Given the description of an element on the screen output the (x, y) to click on. 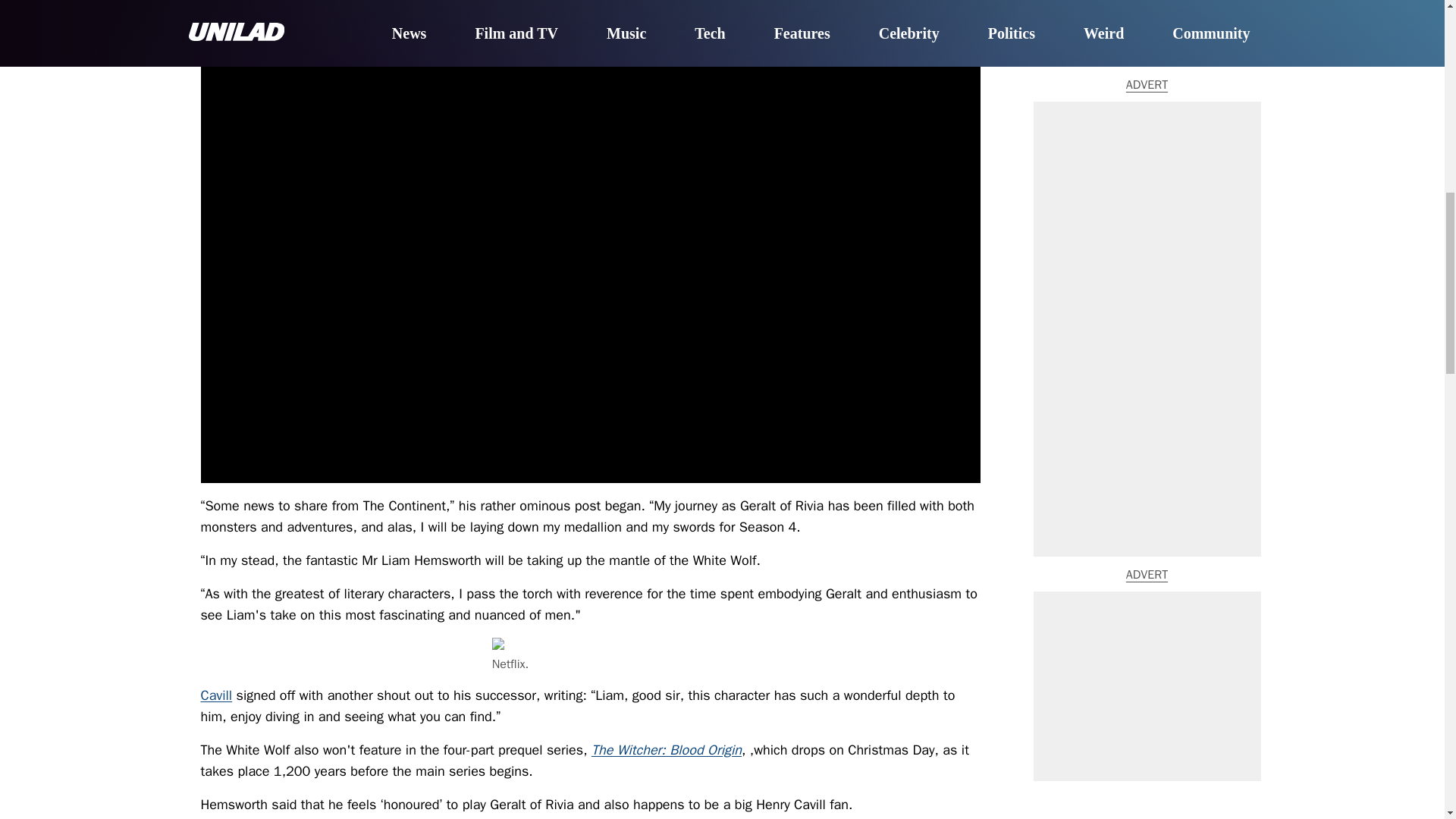
The Witcher: Blood Origin (666, 750)
Cavill (215, 695)
